Given the description of an element on the screen output the (x, y) to click on. 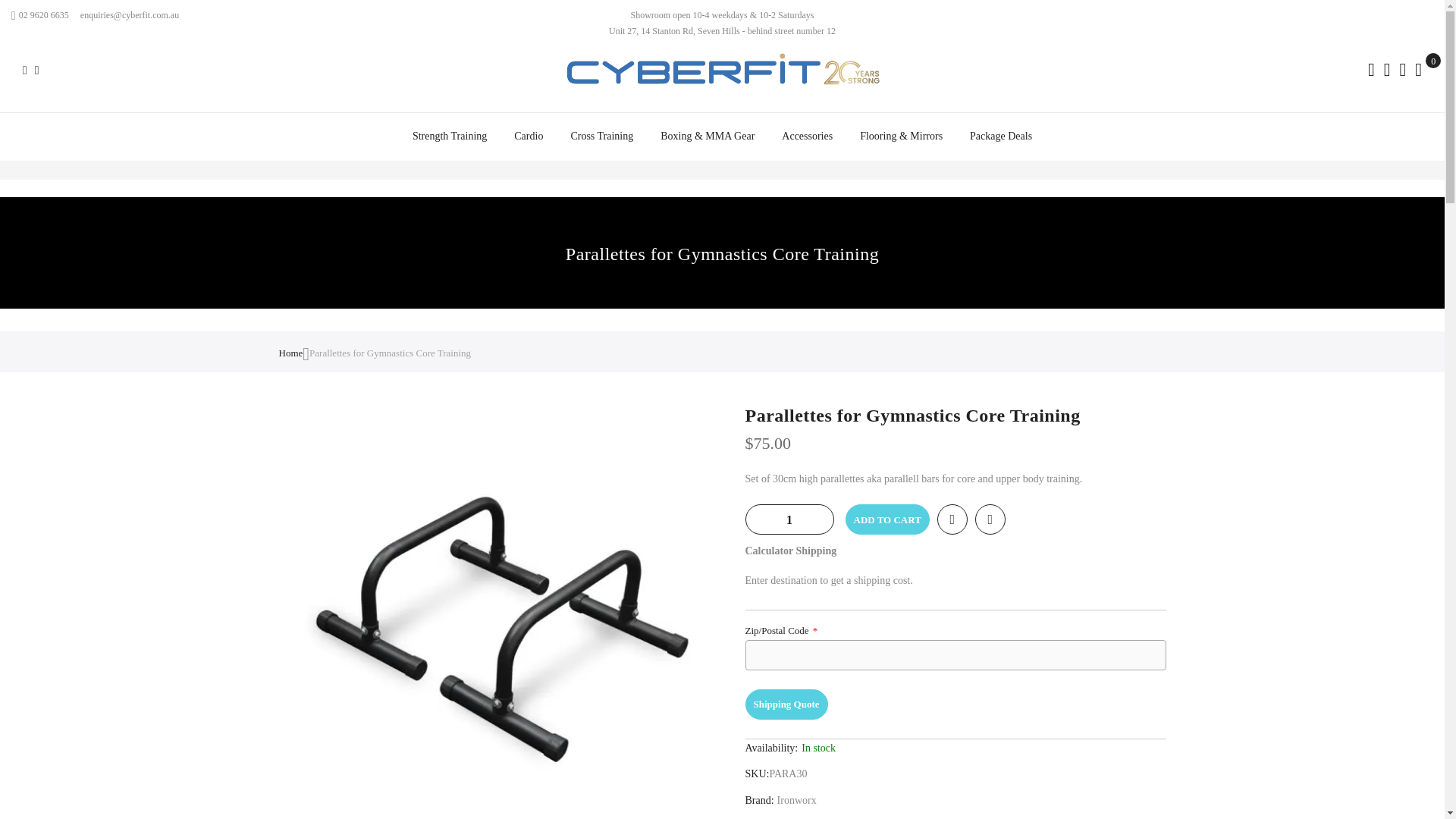
Go to Home Page (290, 352)
02 9620 6635 (39, 14)
Availability (955, 661)
Ironworx (796, 799)
Shipping Quote (785, 704)
Add to Cart (886, 519)
Qty (788, 520)
Cyberfit Gym Equipment (721, 78)
1 (788, 520)
Strength Training (449, 136)
